Given the description of an element on the screen output the (x, y) to click on. 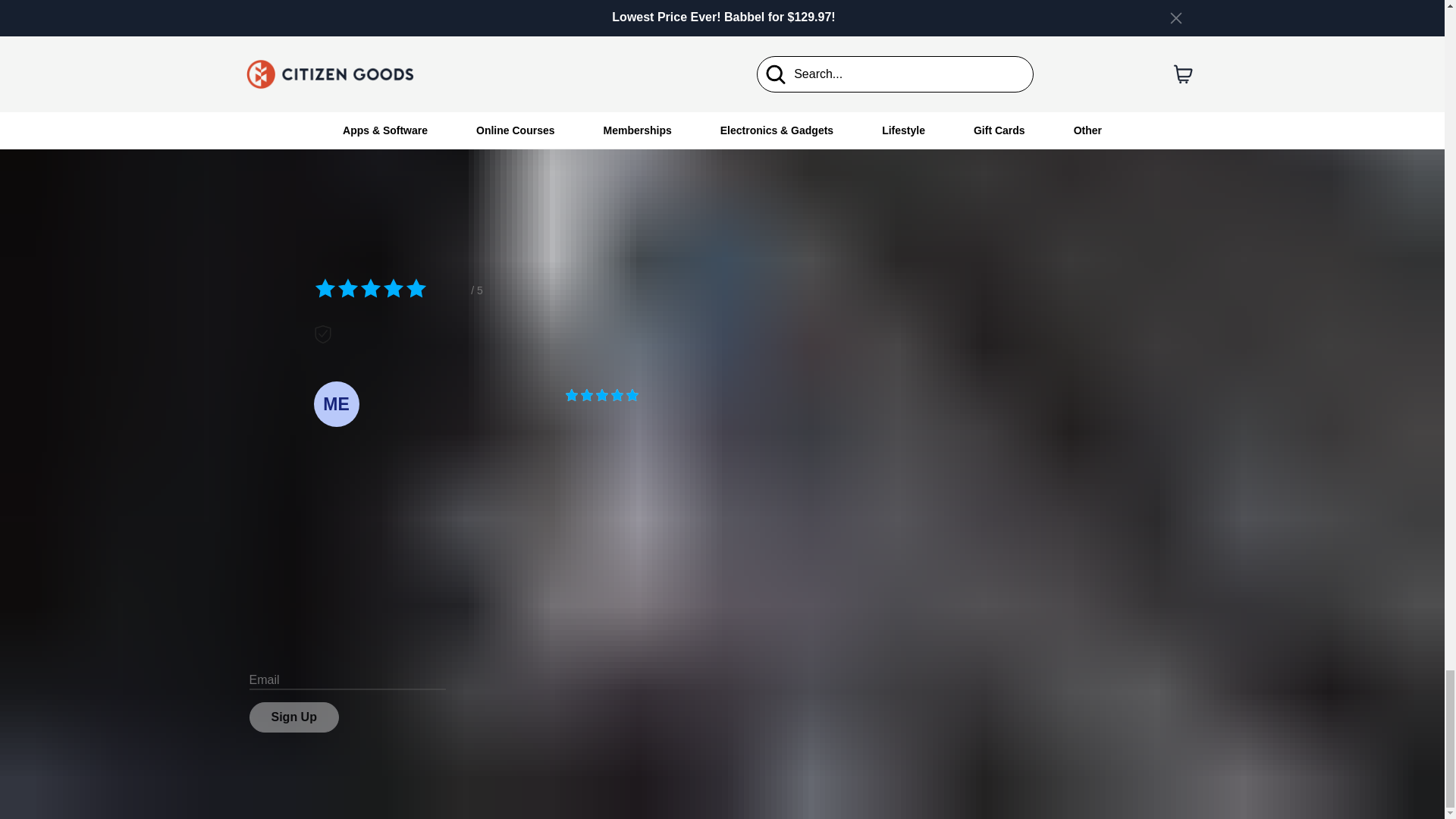
StackCommerce (803, 792)
